Given the description of an element on the screen output the (x, y) to click on. 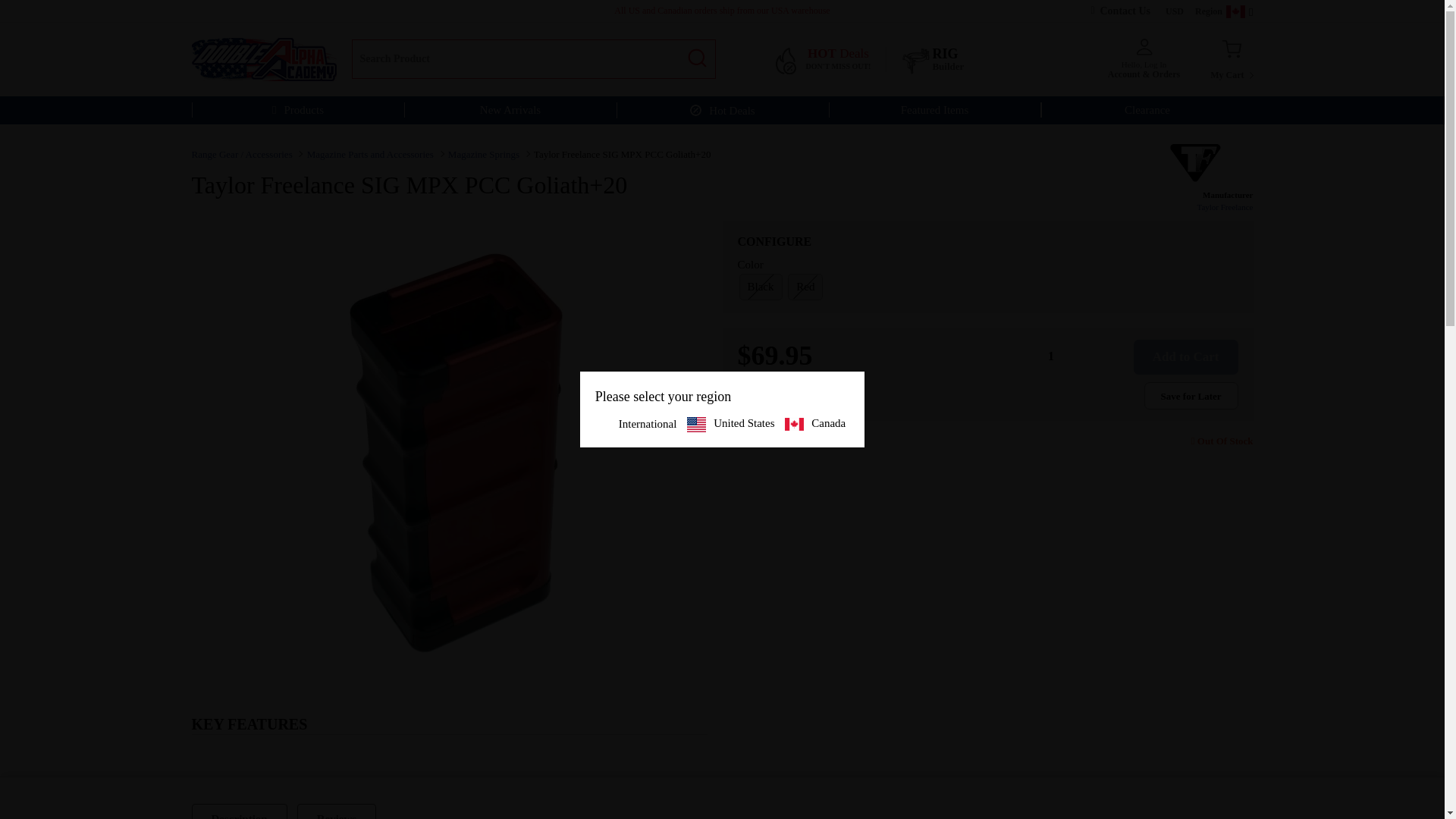
Contact Us (1124, 10)
International (830, 59)
Products (638, 424)
Canada (1230, 59)
United States (296, 109)
